Given the description of an element on the screen output the (x, y) to click on. 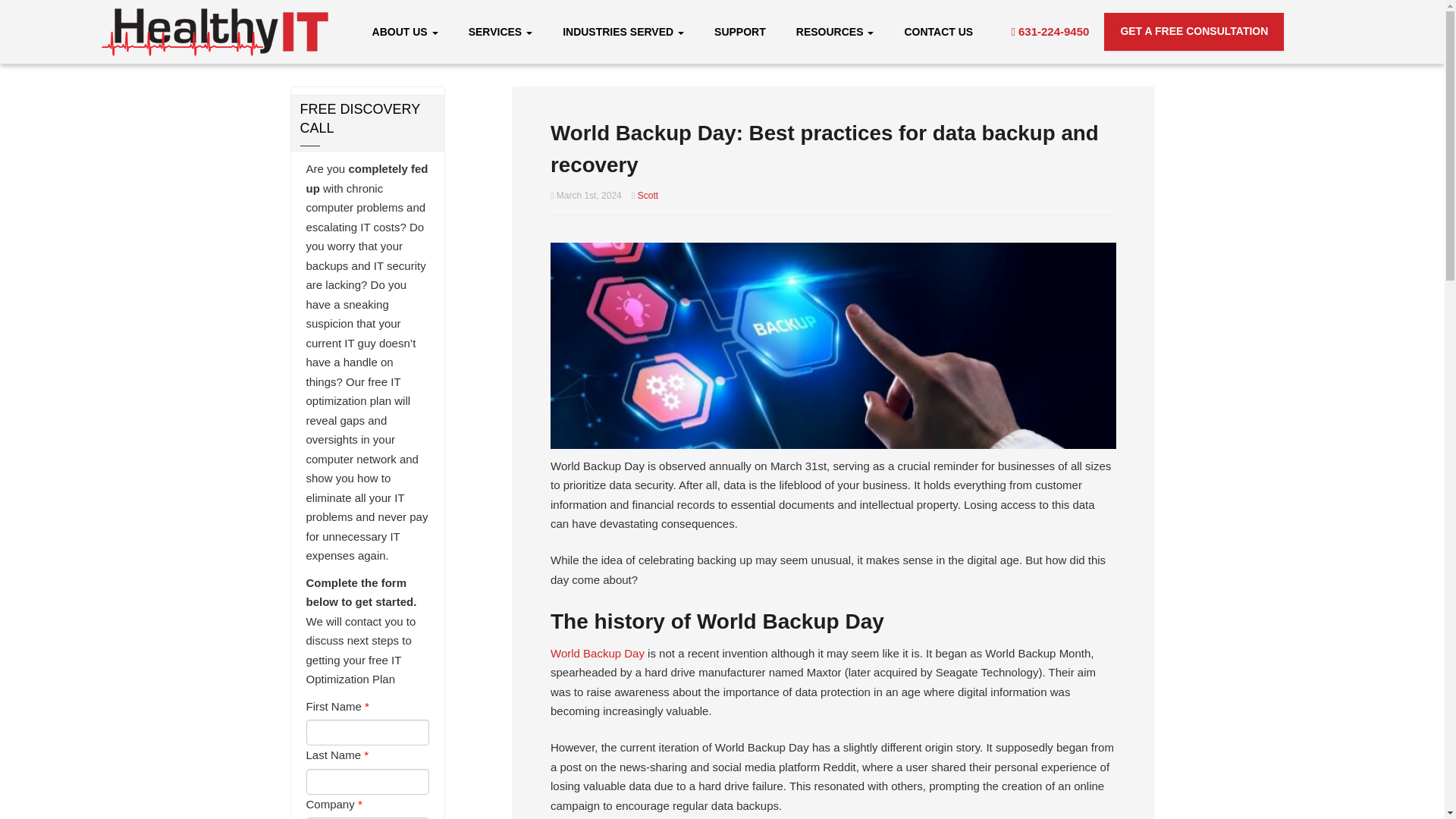
CONTACT US (937, 31)
ABOUT US (405, 31)
SUPPORT (739, 31)
Posts by Scott (647, 195)
INDUSTRIES SERVED (622, 31)
GET A FREE CONSULTATION (1193, 31)
631-224-9450 (1049, 31)
RESOURCES (835, 31)
SERVICES (500, 31)
